Given the description of an element on the screen output the (x, y) to click on. 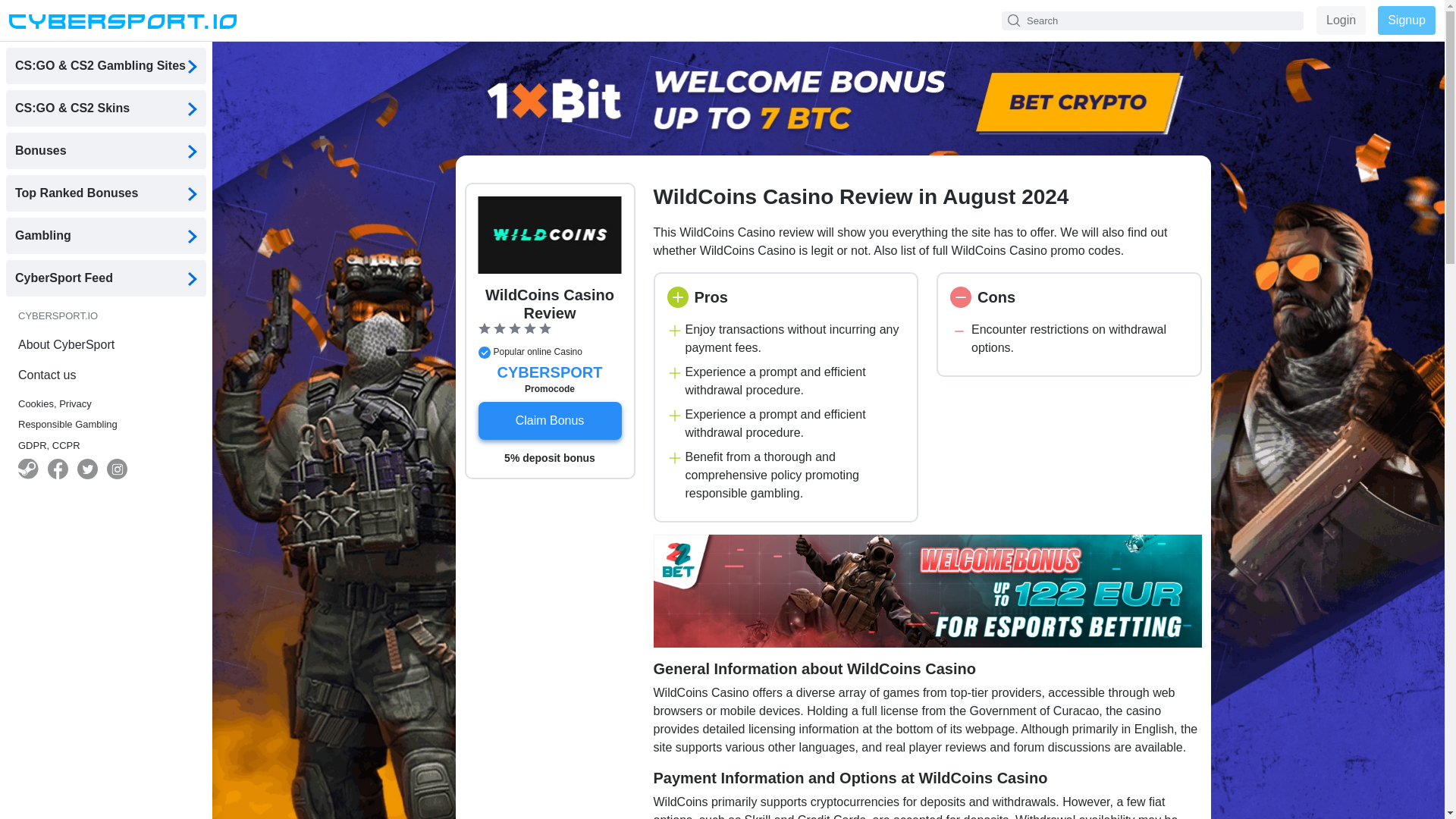
Go to Home Page (121, 20)
Signup (1406, 20)
Gambling (105, 235)
Top Ranked Bonuses (105, 193)
Type to search (1152, 19)
Login (1340, 20)
Bonuses (105, 150)
